Given the description of an element on the screen output the (x, y) to click on. 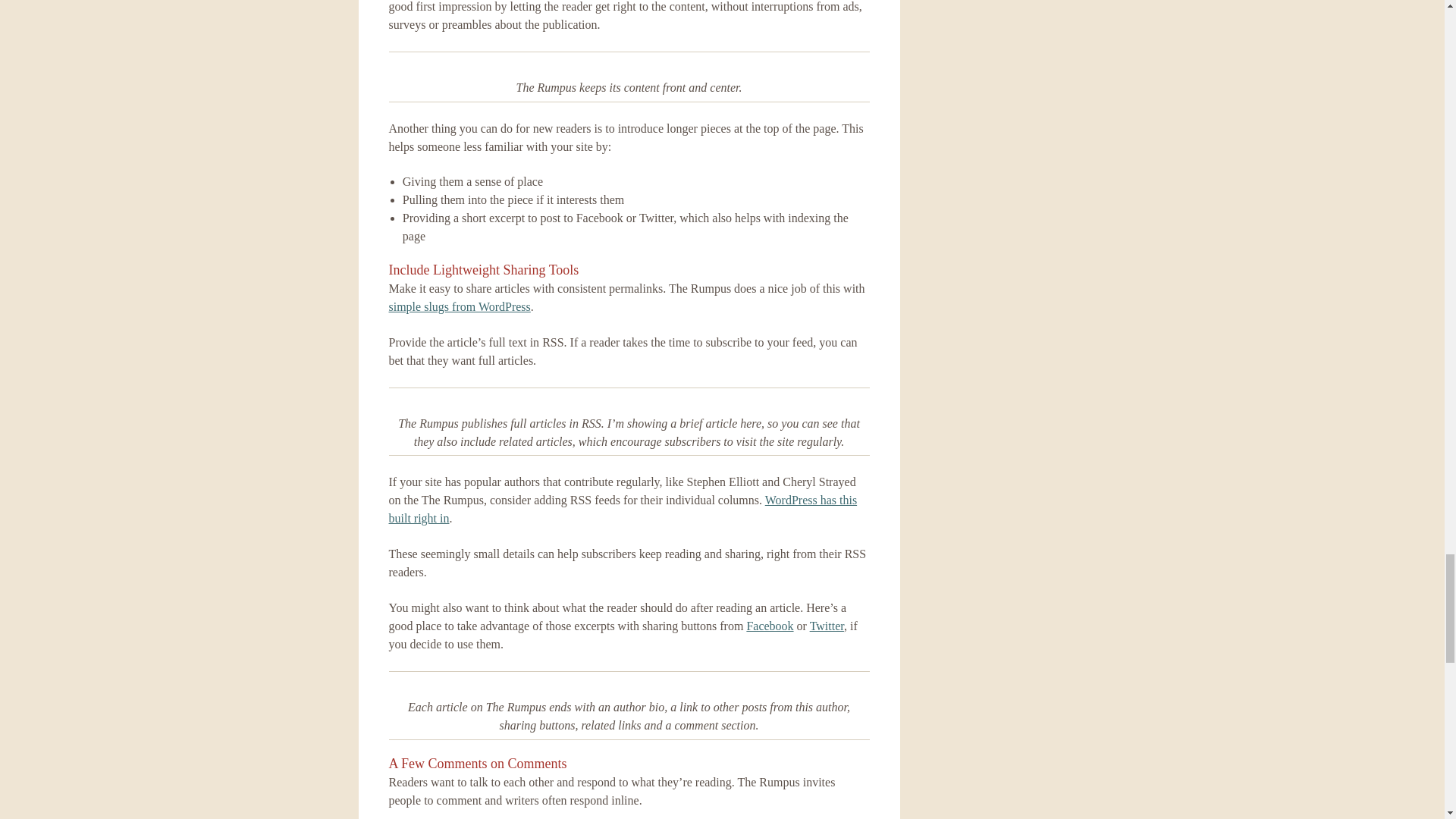
WordPress has this built right in (622, 508)
Facebook (769, 625)
Twitter (826, 625)
simple slugs from WordPress (458, 306)
